Given the description of an element on the screen output the (x, y) to click on. 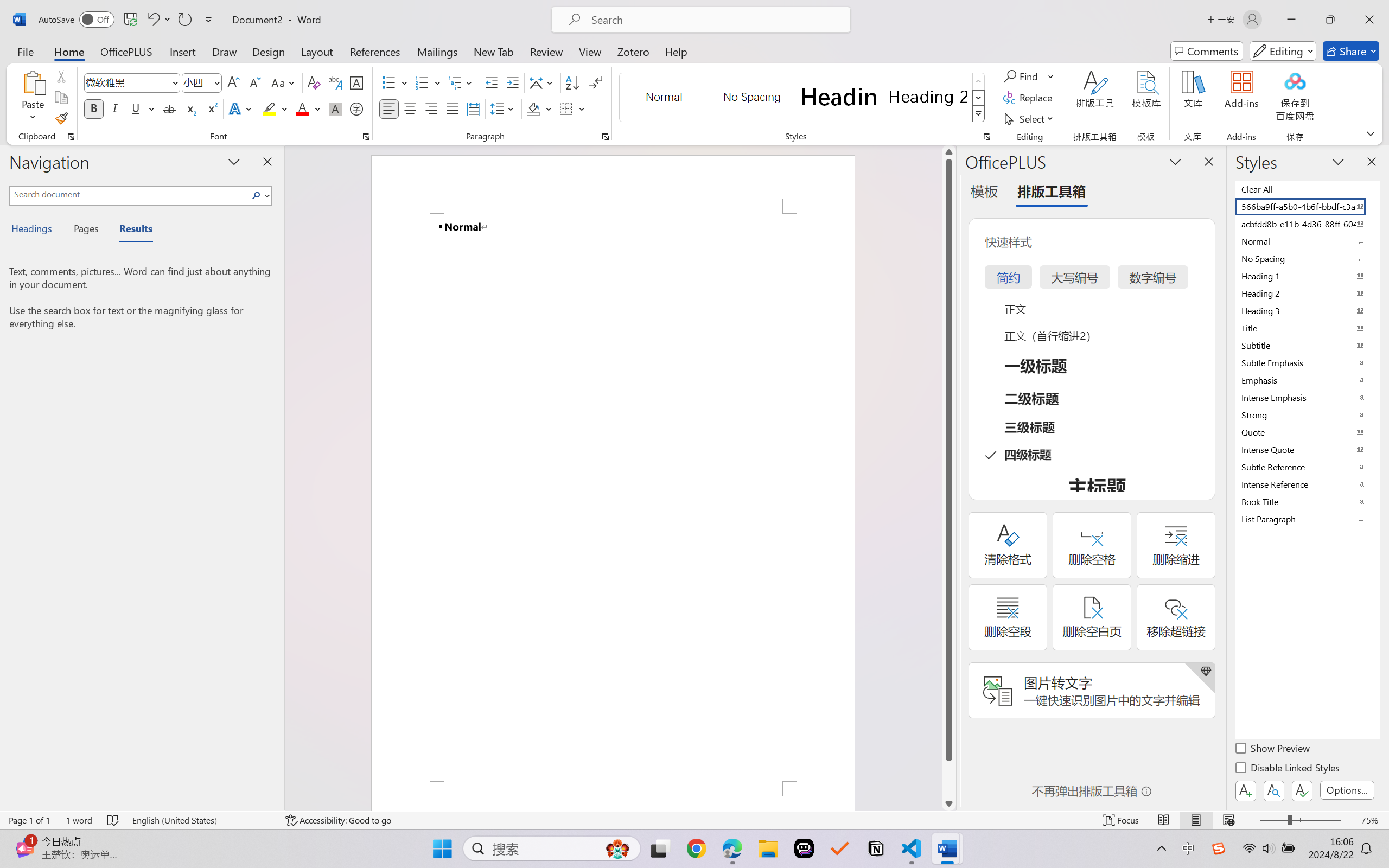
Heading 3 (1306, 310)
Review (546, 51)
Undo <ApplyStyleToDoc>b__0 (158, 19)
Change Case (284, 82)
Text Effects and Typography (241, 108)
Cut (60, 75)
Grow Font (233, 82)
New Tab (493, 51)
Restore Down (1330, 19)
Customize Quick Access Toolbar (208, 19)
Clear All (1306, 188)
Paste (33, 97)
